Given the description of an element on the screen output the (x, y) to click on. 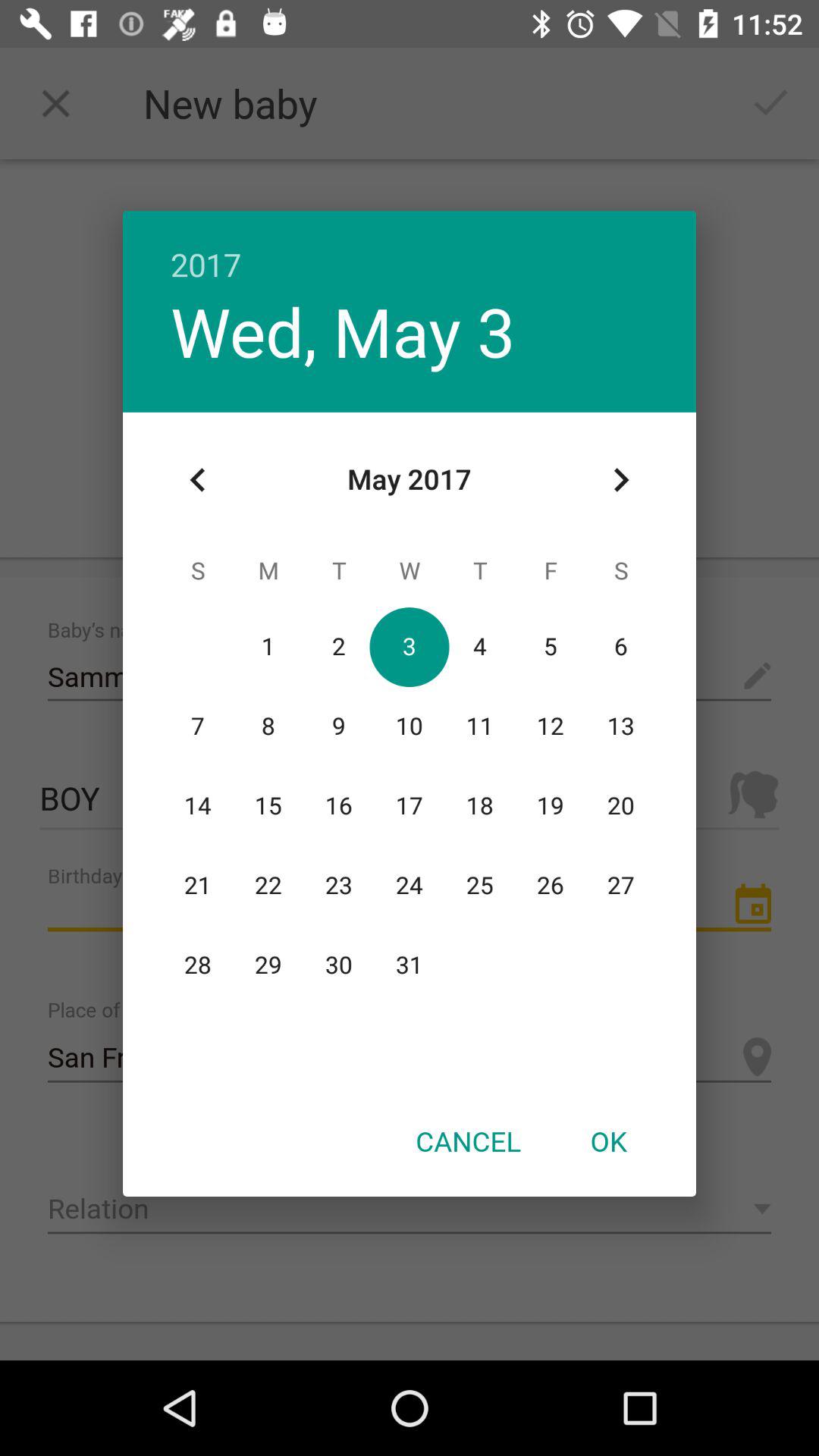
tap icon next to the cancel item (608, 1140)
